Given the description of an element on the screen output the (x, y) to click on. 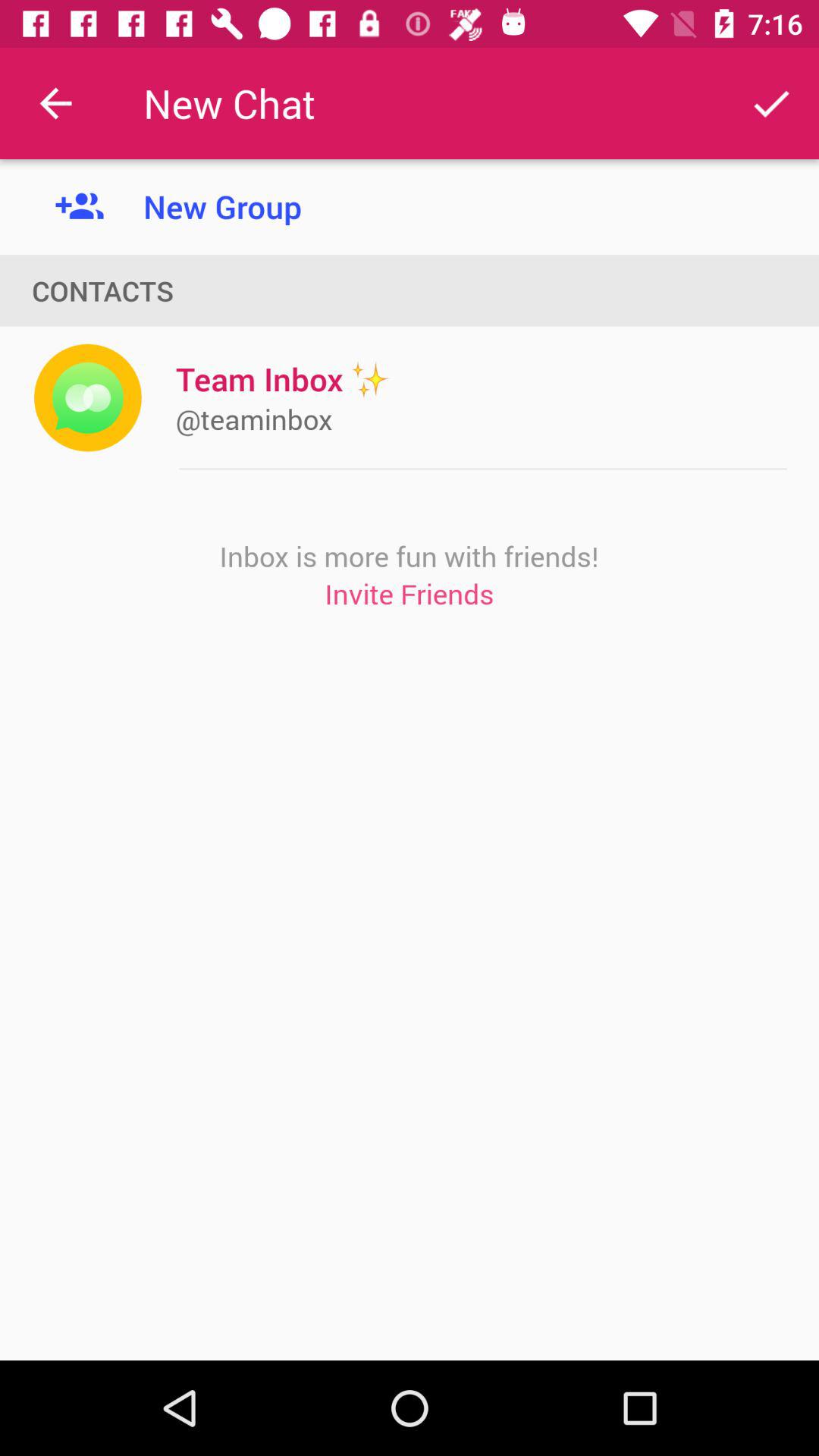
click the icon to the right of new chat (771, 103)
